Given the description of an element on the screen output the (x, y) to click on. 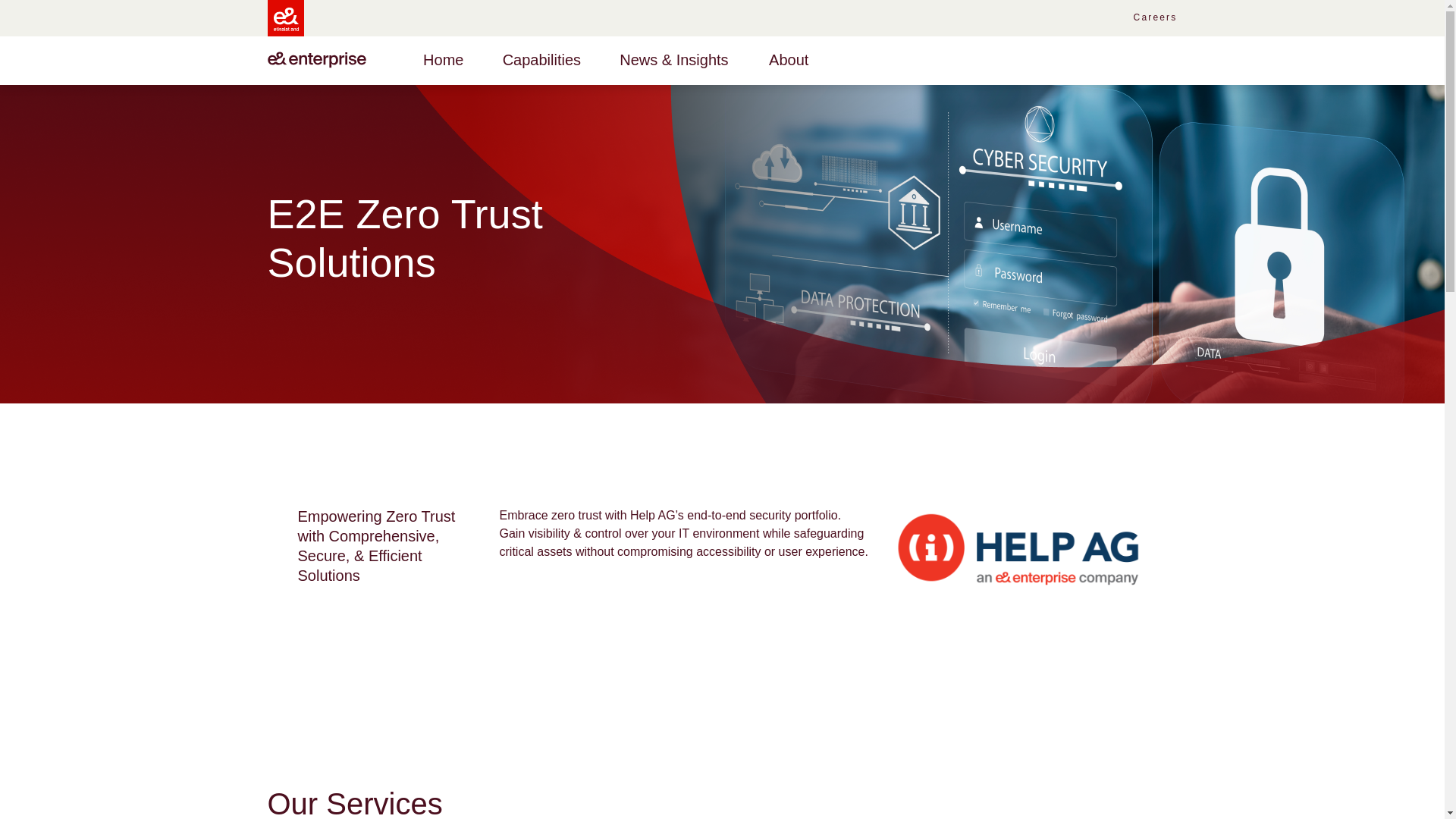
Capabilities (541, 59)
Home (443, 59)
Careers (1149, 18)
